Given the description of an element on the screen output the (x, y) to click on. 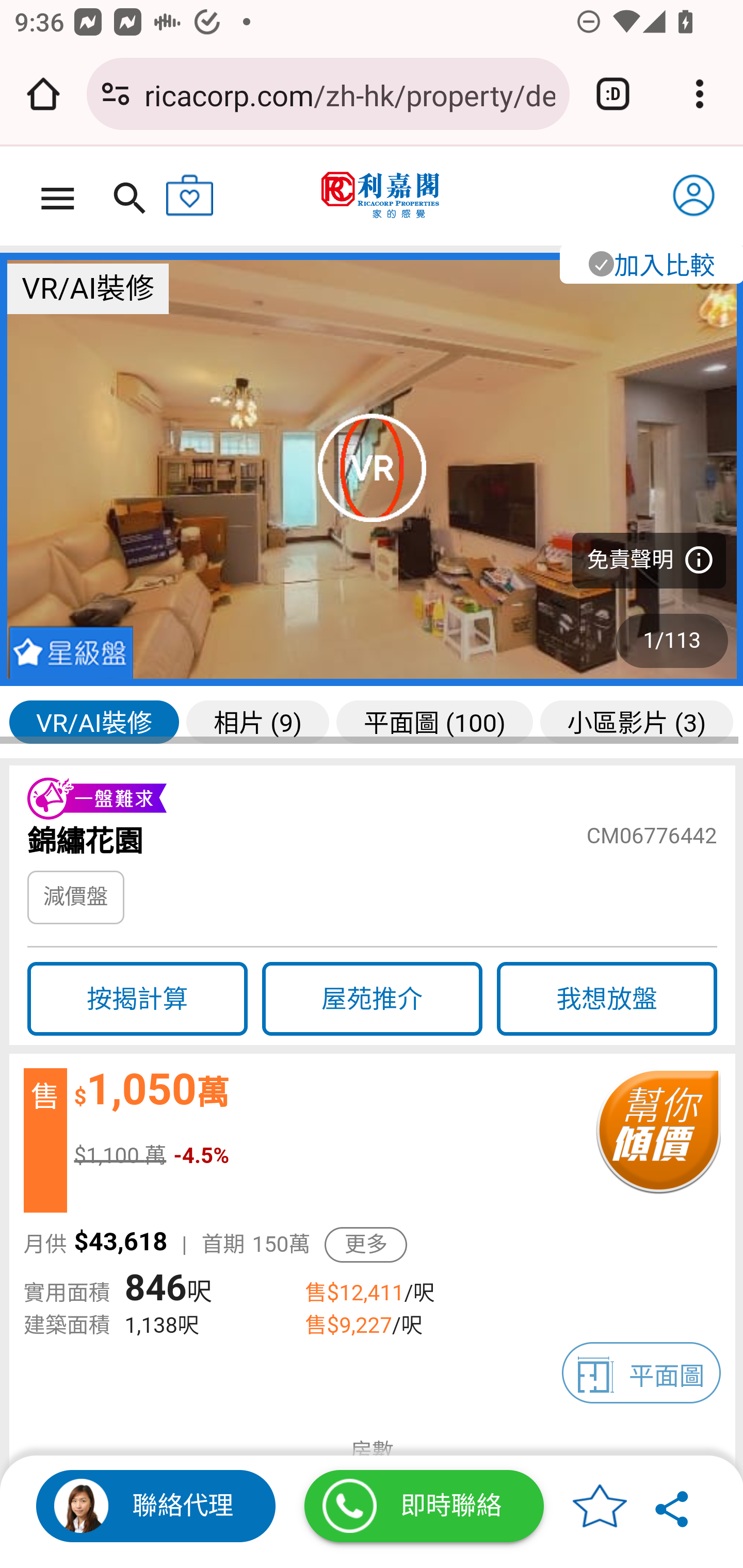
Open the home page (43, 93)
Connection is secure (115, 93)
Switch or close tabs (612, 93)
Customize and control Google Chrome (699, 93)
unchecked 加入比較 (650, 263)
免責聲明 (648, 560)
按揭計算 (136, 998)
屋苑推介 (371, 998)
我想放盤 (606, 998)
平面圖 (641, 1372)
Tracy Yeung 聯絡代理 (156, 1505)
whatsapp 即時聯絡 (424, 1505)
Share button (672, 1505)
